Given the description of an element on the screen output the (x, y) to click on. 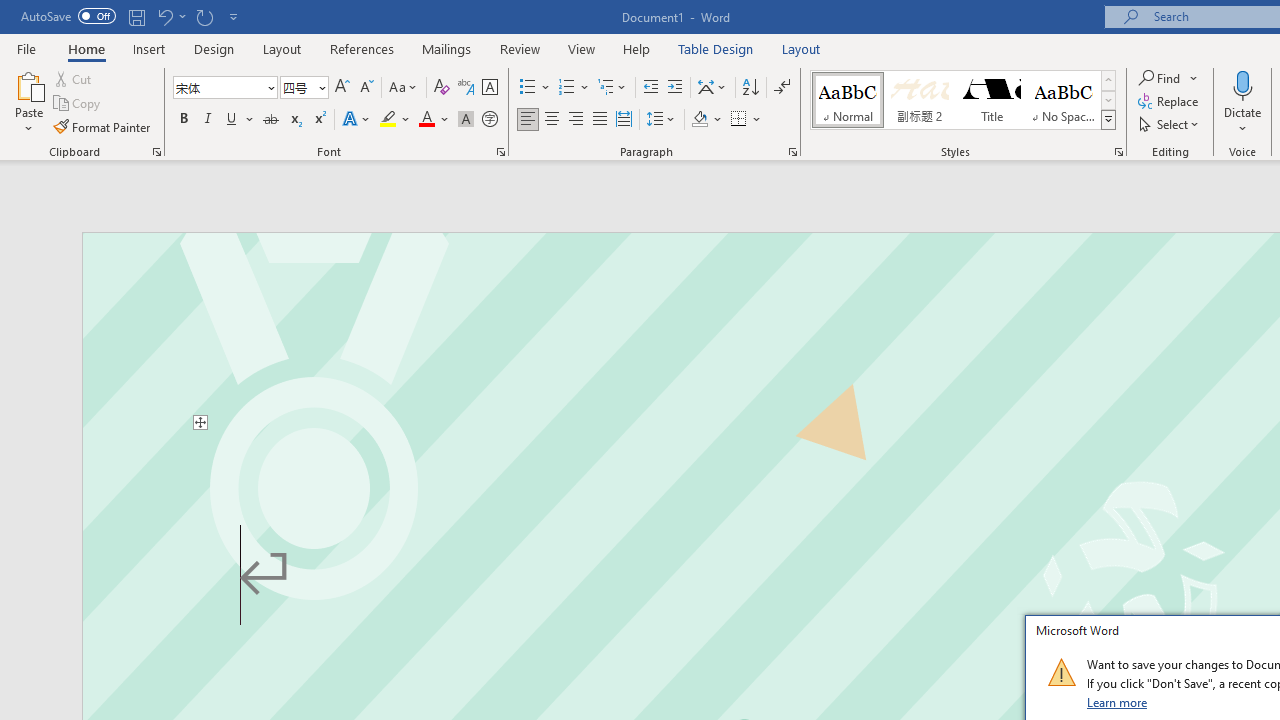
Learn more (1118, 702)
